Given the description of an element on the screen output the (x, y) to click on. 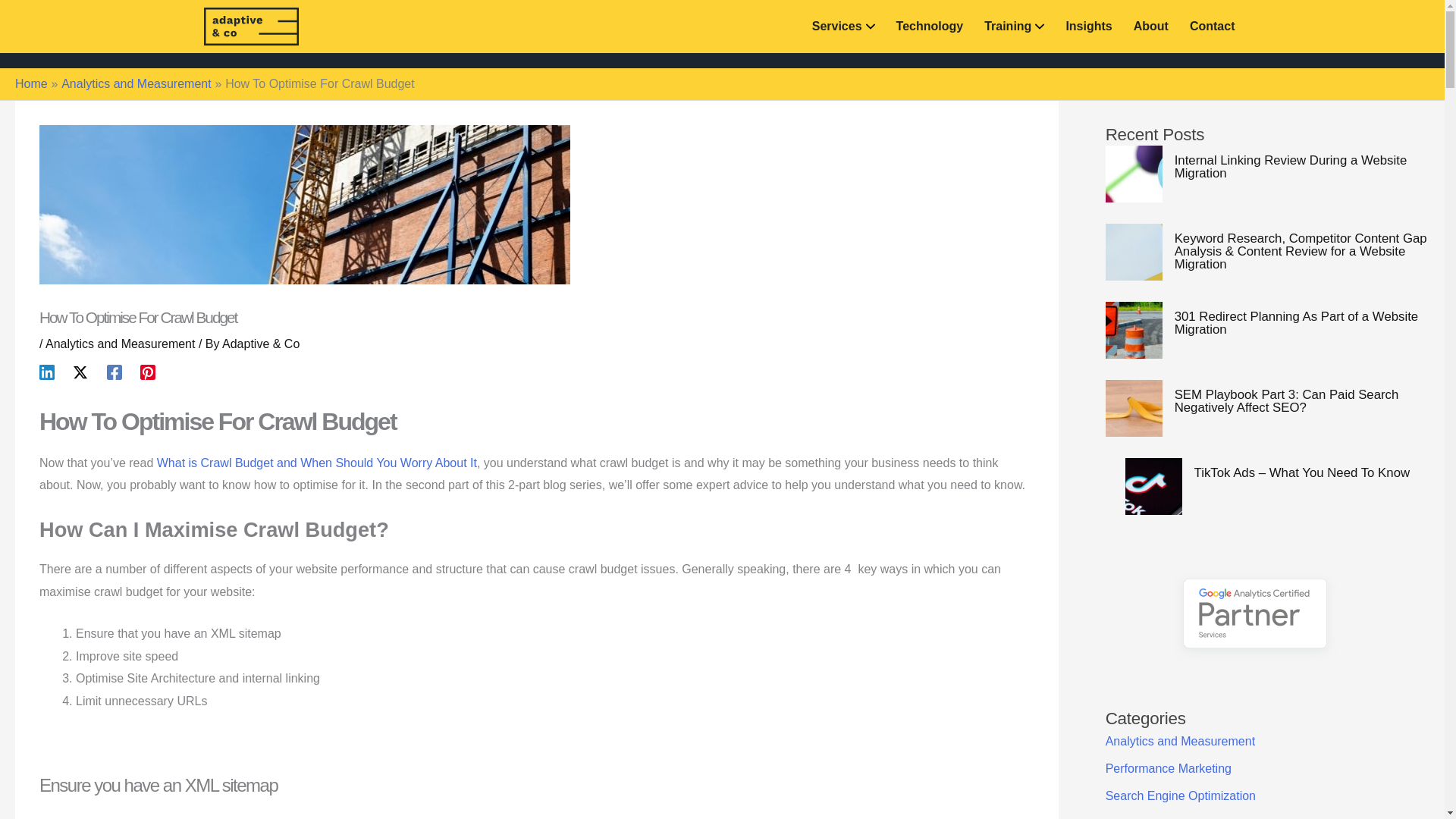
Services (843, 26)
Training (1013, 26)
Technology (929, 26)
Google-analytics-certified-partner-logo (1254, 616)
